Given the description of an element on the screen output the (x, y) to click on. 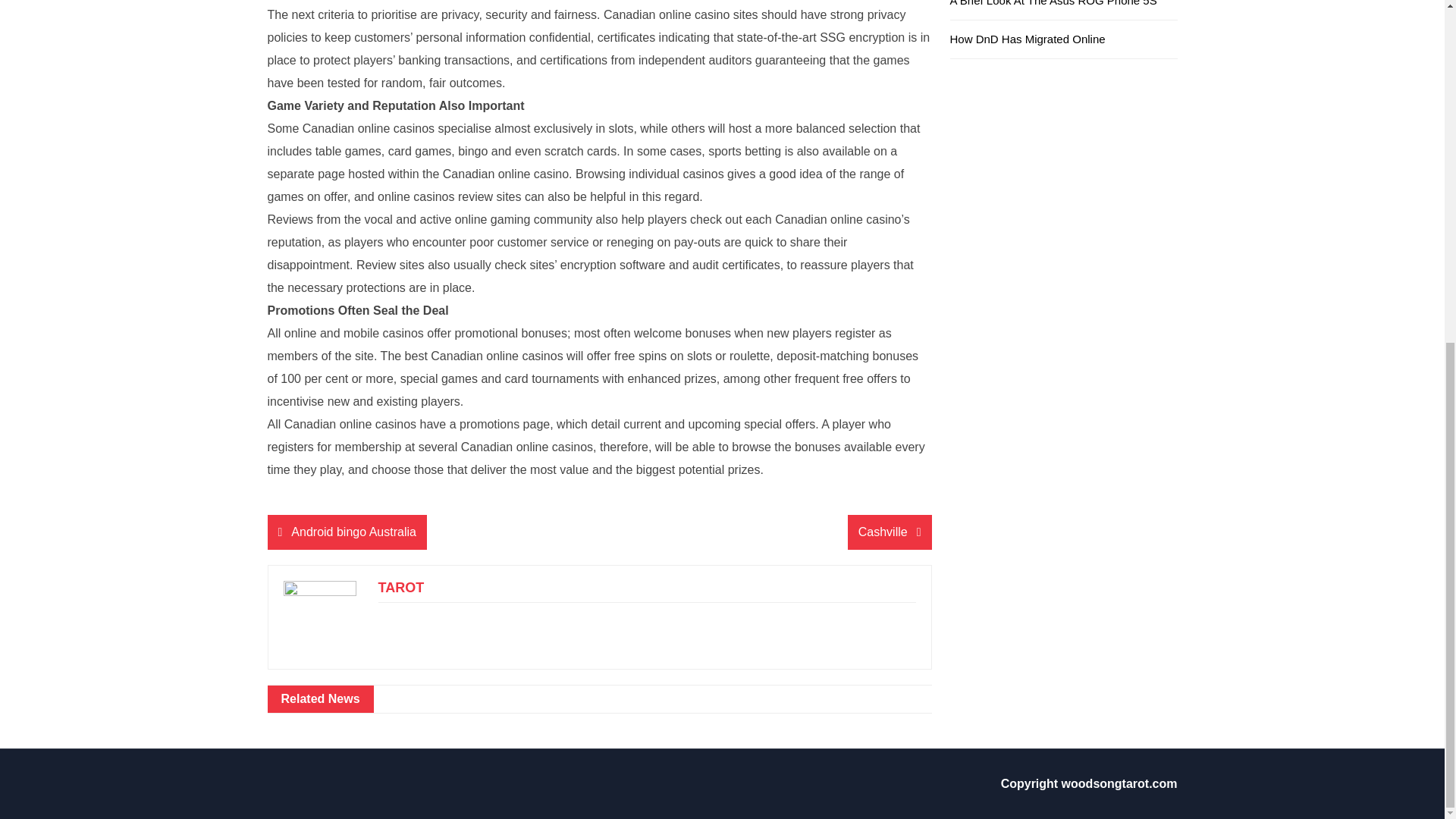
How DnD Has Migrated Online (1027, 38)
Android bingo Australia (346, 532)
Cashville (889, 532)
A Brief Look At The Asus ROG Phone 5S (1052, 3)
